Given the description of an element on the screen output the (x, y) to click on. 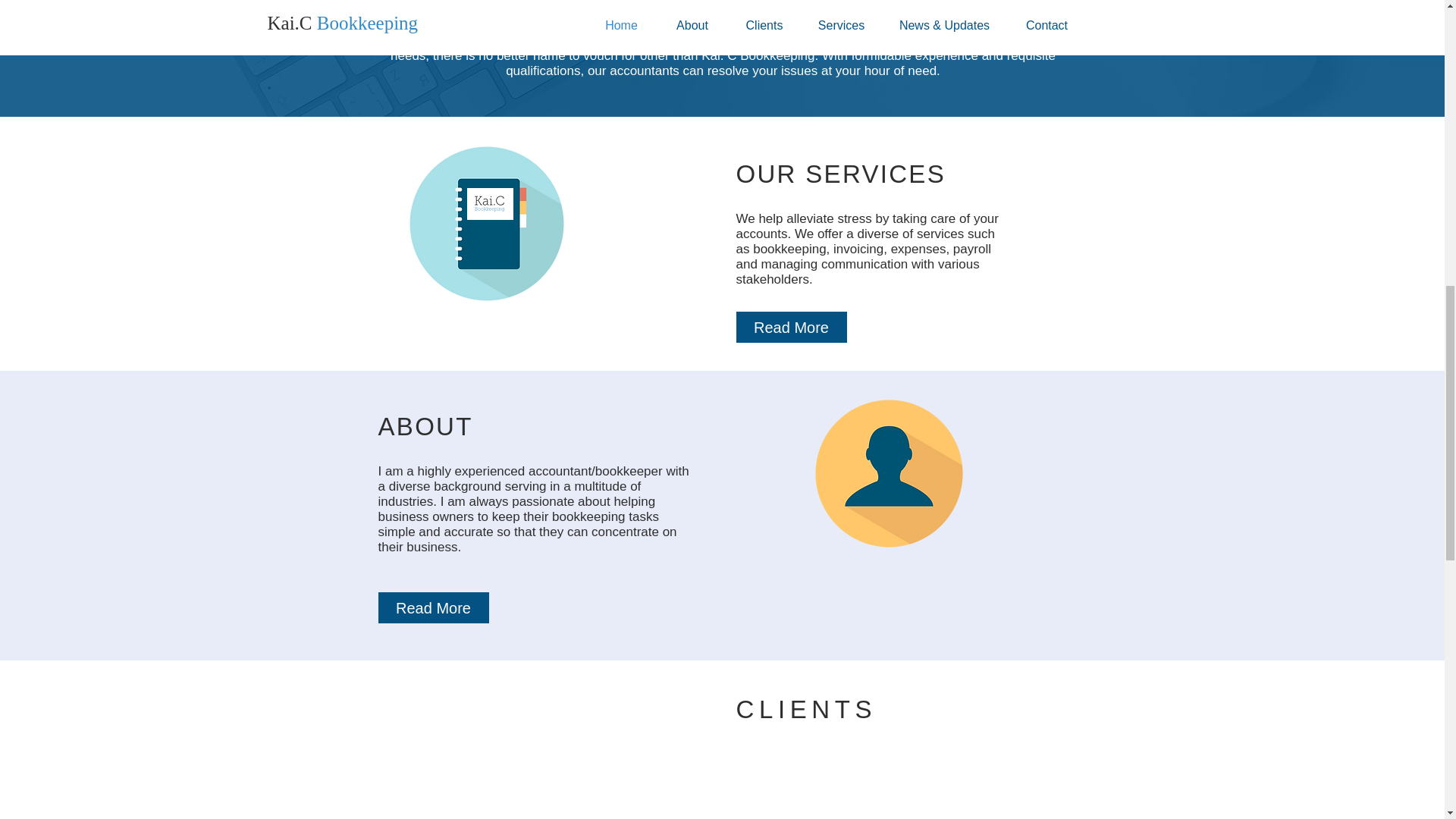
Kai.C Bookkeeping (490, 204)
Read More (790, 327)
Read More (432, 607)
